Given the description of an element on the screen output the (x, y) to click on. 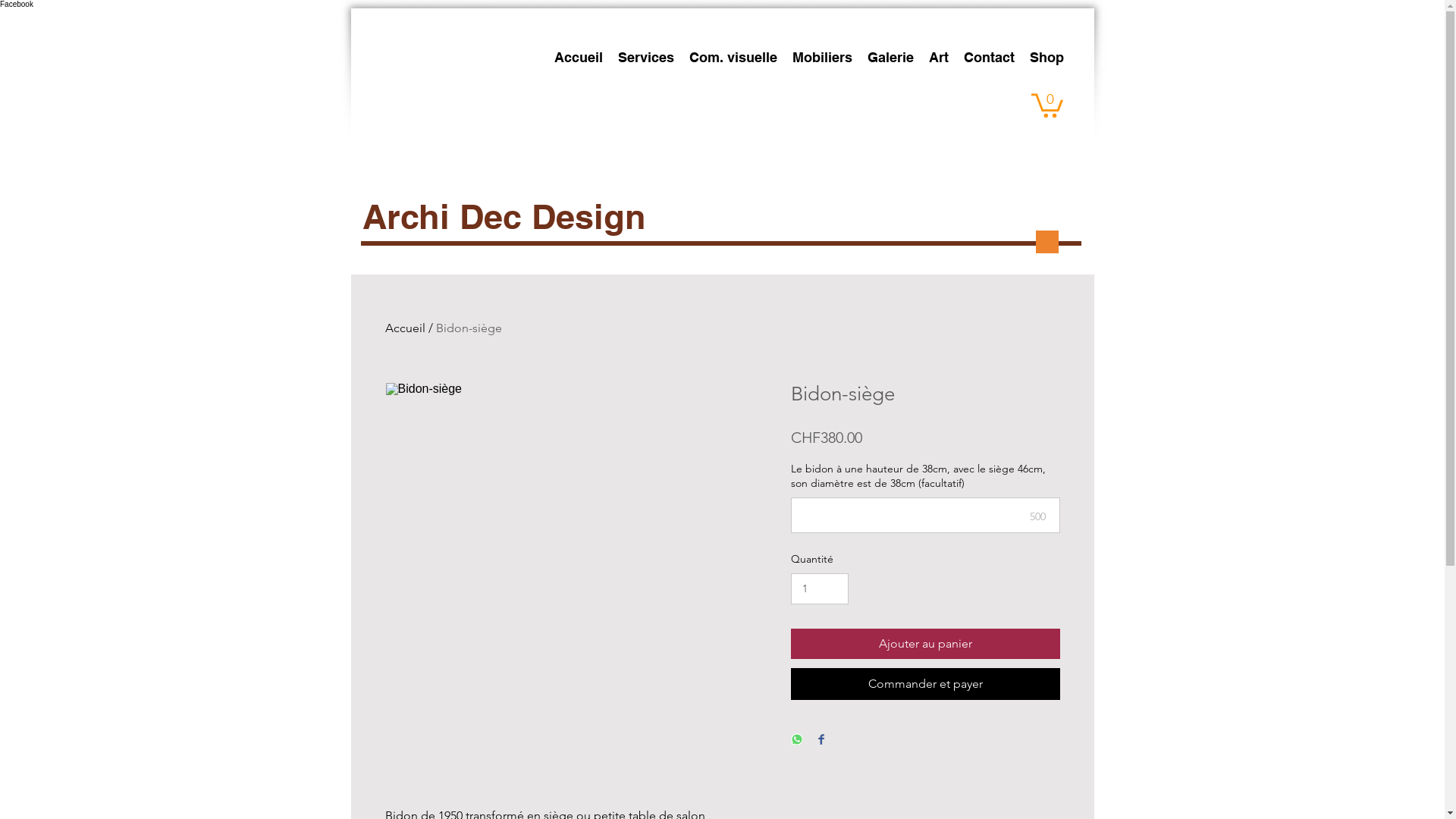
Contact Element type: text (988, 57)
Ajouter au panier Element type: text (924, 643)
Accueil Element type: text (577, 57)
Mobiliers Element type: text (821, 57)
Commander et payer Element type: text (924, 683)
Art Element type: text (937, 57)
Accueil Element type: text (405, 327)
Services Element type: text (644, 57)
0 Element type: text (1047, 104)
Shop Element type: text (1046, 57)
Galerie Element type: text (890, 57)
Com. visuelle Element type: text (732, 57)
